Given the description of an element on the screen output the (x, y) to click on. 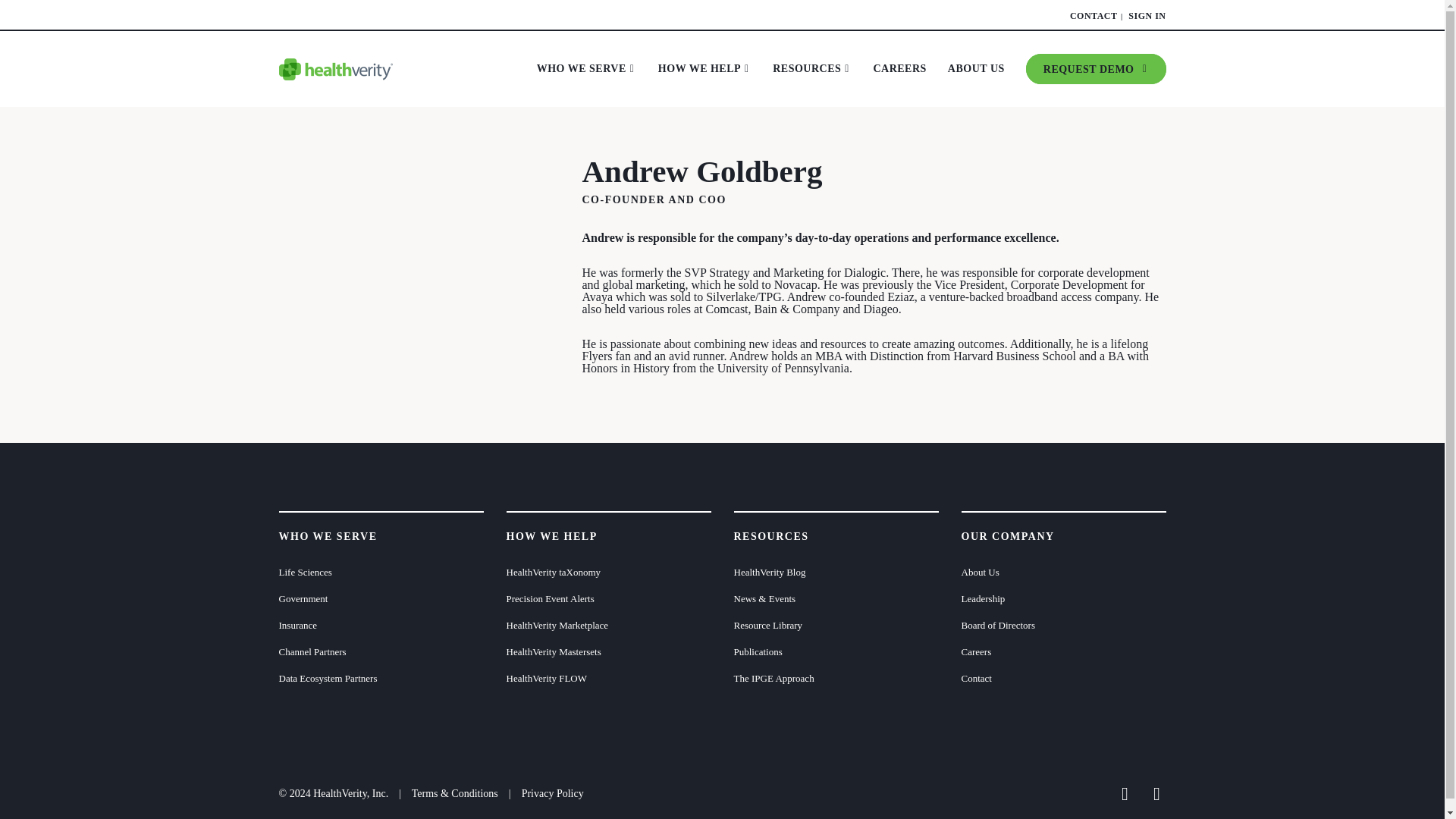
WHO WE SERVE (586, 69)
RESOURCES (812, 69)
HOW WE HELP (704, 69)
Privacy Policy (552, 793)
CONTACT (1094, 15)
SIGN IN (1147, 15)
